Given the description of an element on the screen output the (x, y) to click on. 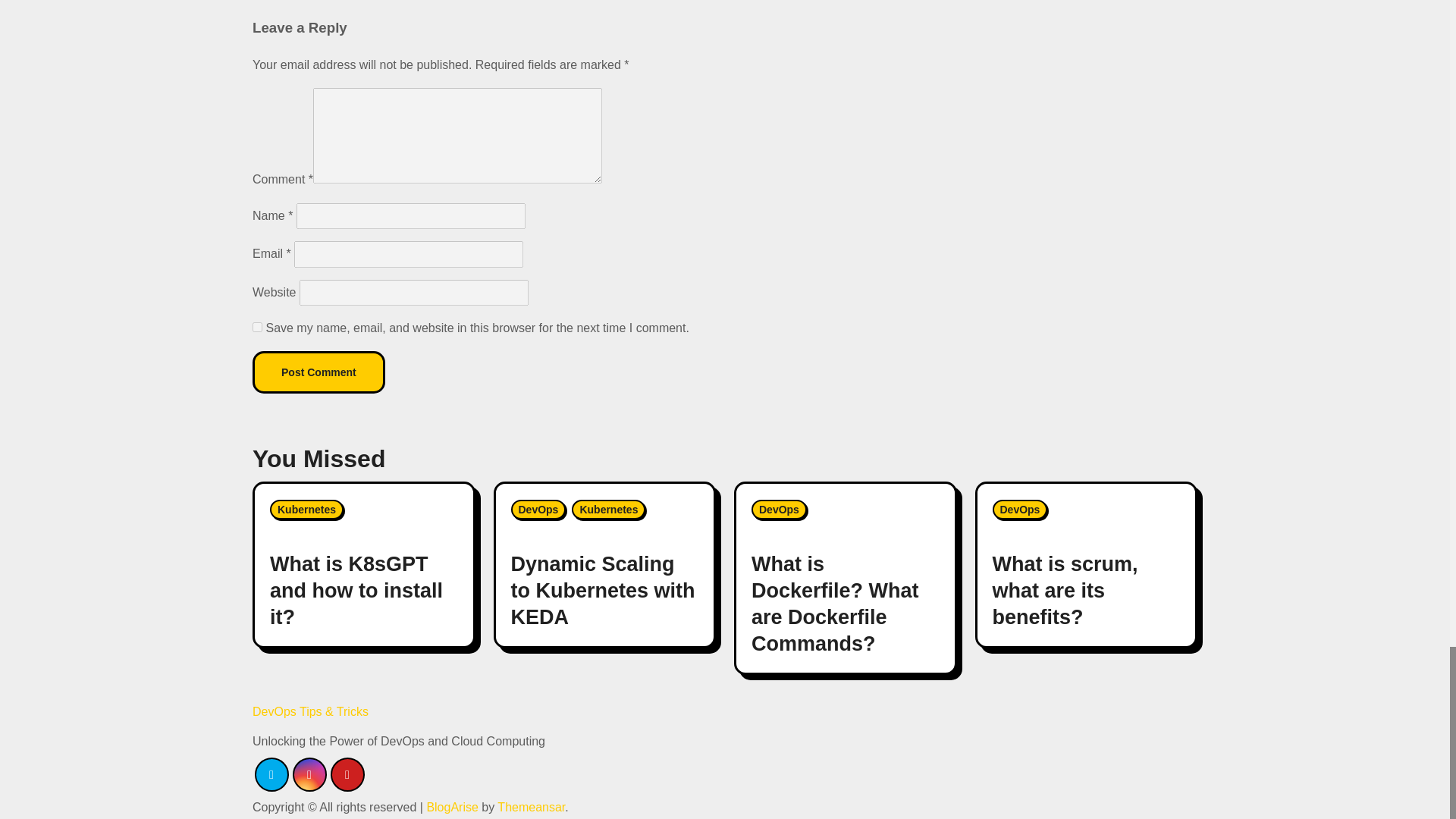
Permalink to: What is K8sGPT and how to install it? (355, 590)
yes (256, 327)
Post Comment (318, 372)
Permalink to: What is scrum, what are its benefits? (1064, 590)
Permalink to: Dynamic Scaling to Kubernetes with KEDA (603, 590)
